Given the description of an element on the screen output the (x, y) to click on. 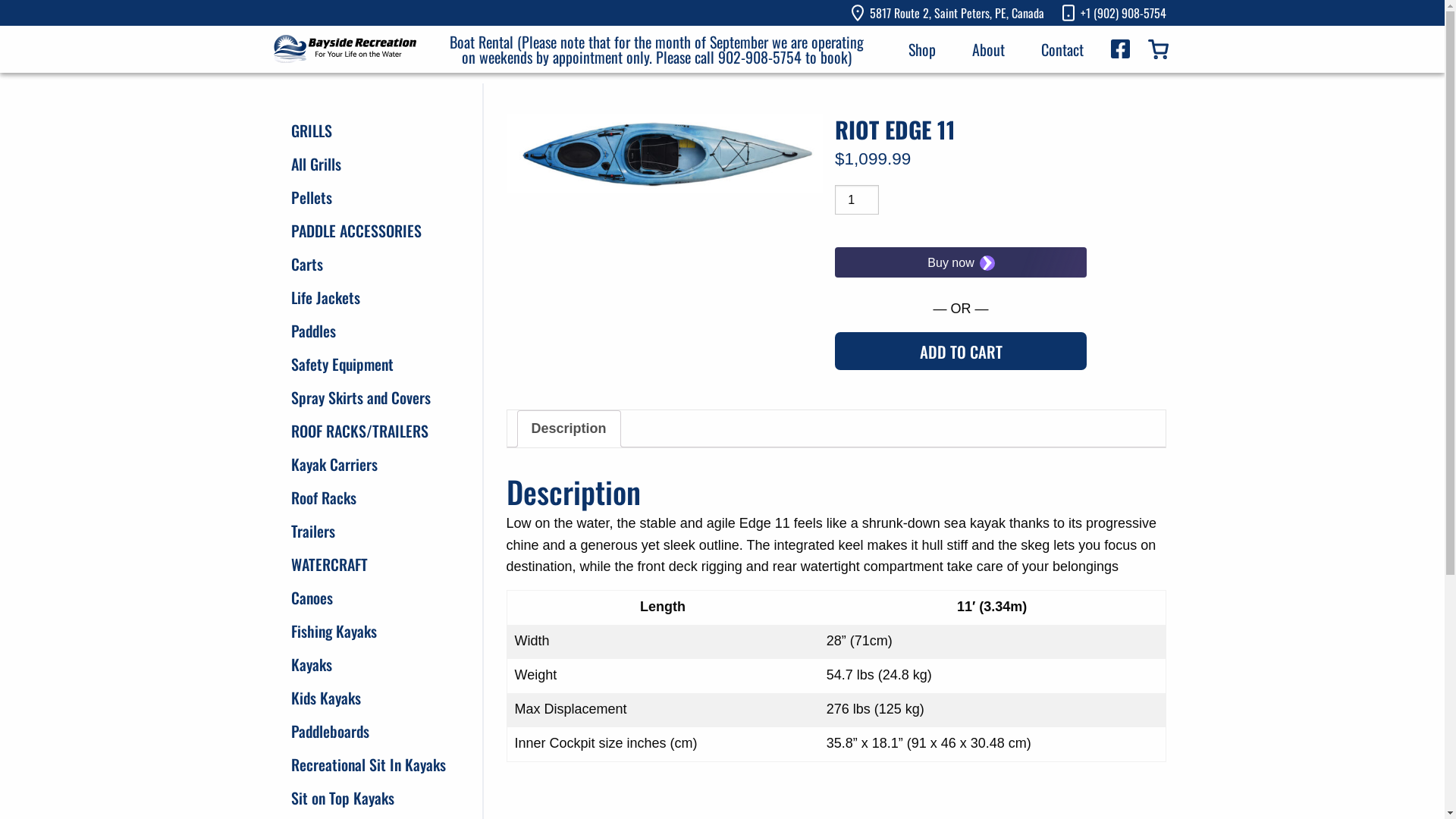
Kids Kayaks Element type: text (325, 697)
About Element type: text (987, 49)
Safety Equipment Element type: text (342, 363)
Canoes Element type: text (311, 597)
Kayaks Element type: text (311, 663)
edge11_sky_topview Element type: hover (664, 152)
Carts Element type: text (307, 263)
Secure payment button frame Element type: hover (960, 262)
Contact Element type: text (1061, 49)
Description Element type: text (567, 428)
Shop Element type: text (921, 49)
Trailers Element type: text (313, 530)
Fishing Kayaks Element type: text (333, 630)
Pellets Element type: text (311, 196)
Spray Skirts and Covers Element type: text (360, 396)
Paddleboards Element type: text (330, 730)
Kayak Carriers Element type: text (334, 463)
Sit on Top Kayaks Element type: text (342, 797)
Roof Racks Element type: text (323, 497)
Life Jackets Element type: text (325, 296)
Recreational Sit In Kayaks Element type: text (368, 764)
ADD TO CART Element type: text (960, 351)
Paddles Element type: text (313, 330)
All Grills Element type: text (316, 163)
